Given the description of an element on the screen output the (x, y) to click on. 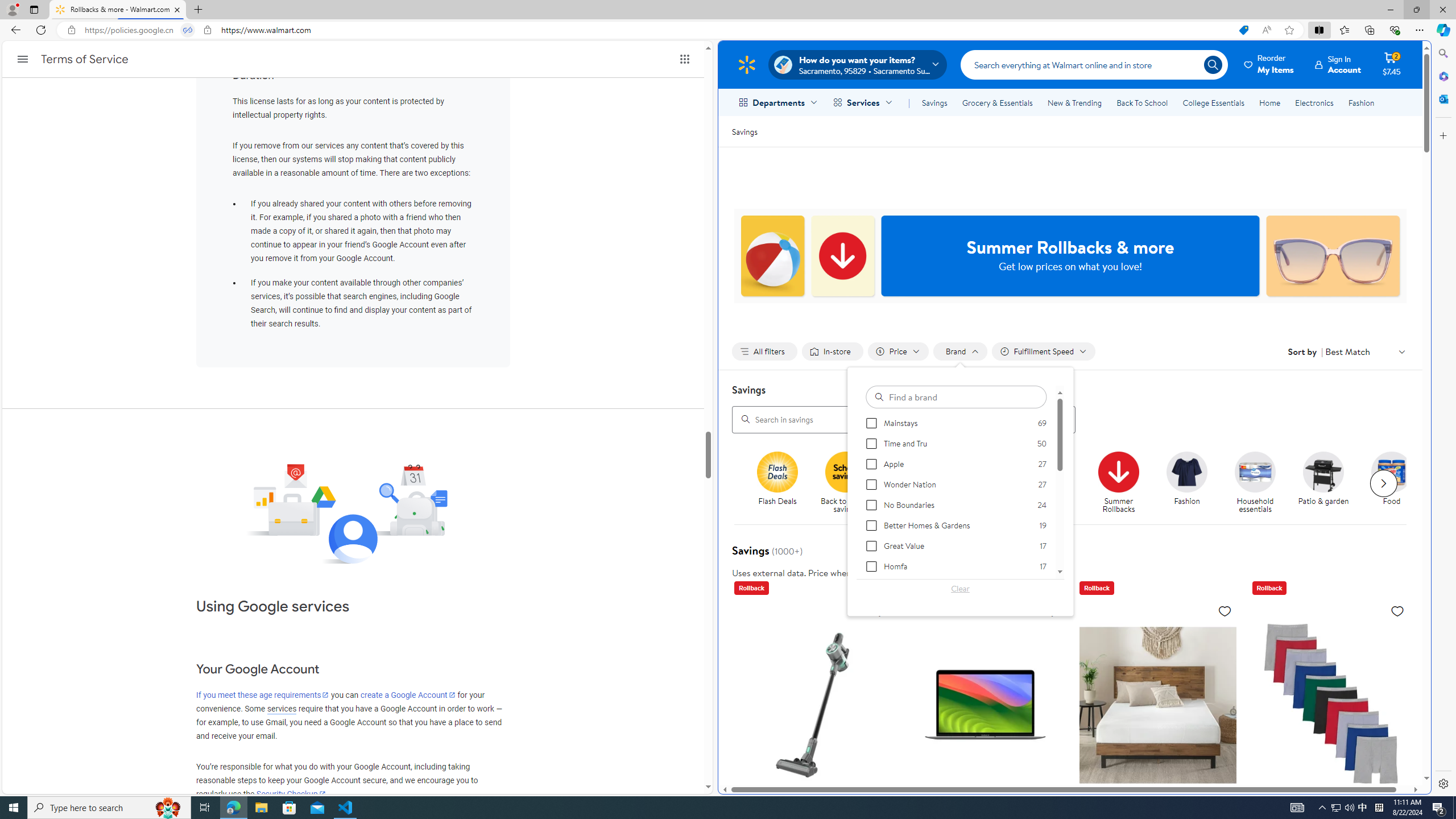
Savings (933, 102)
Patio & garden (1328, 483)
Filter by Price not applied, activate to change (897, 351)
Reorder My Items (1269, 64)
Patio & garden Patio & garden (1323, 478)
Household essentials (1259, 483)
Electronics (1314, 102)
Search icon (1212, 64)
Back to School savings Back to school savings (845, 483)
College Essentials (1213, 102)
Rollbacks & more - Walmart.com (117, 9)
